Given the description of an element on the screen output the (x, y) to click on. 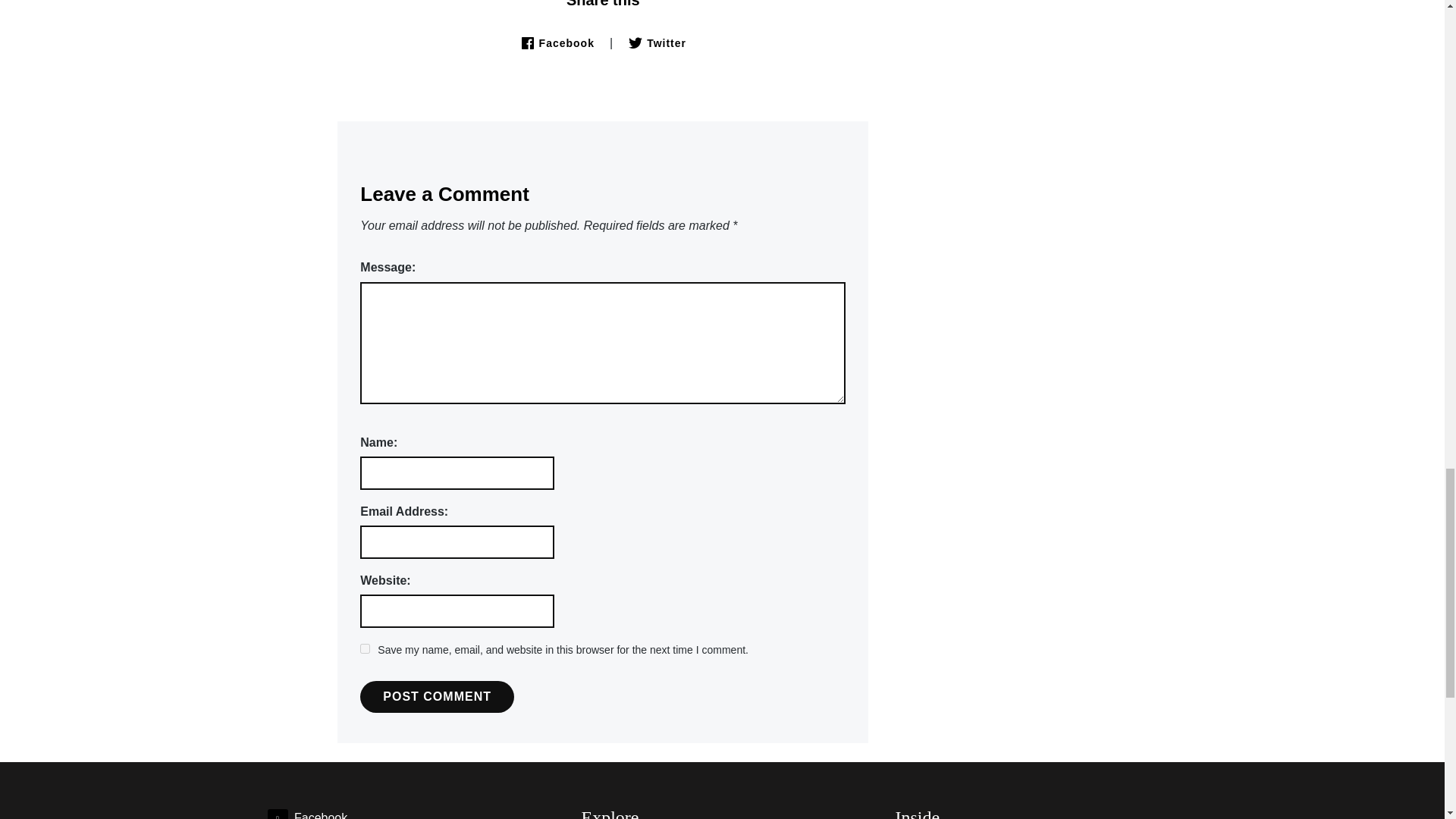
Post Comment (436, 696)
Share this on Facebook (556, 43)
yes (364, 648)
Tweet this on Twitter (656, 43)
Facebook (306, 815)
